Given the description of an element on the screen output the (x, y) to click on. 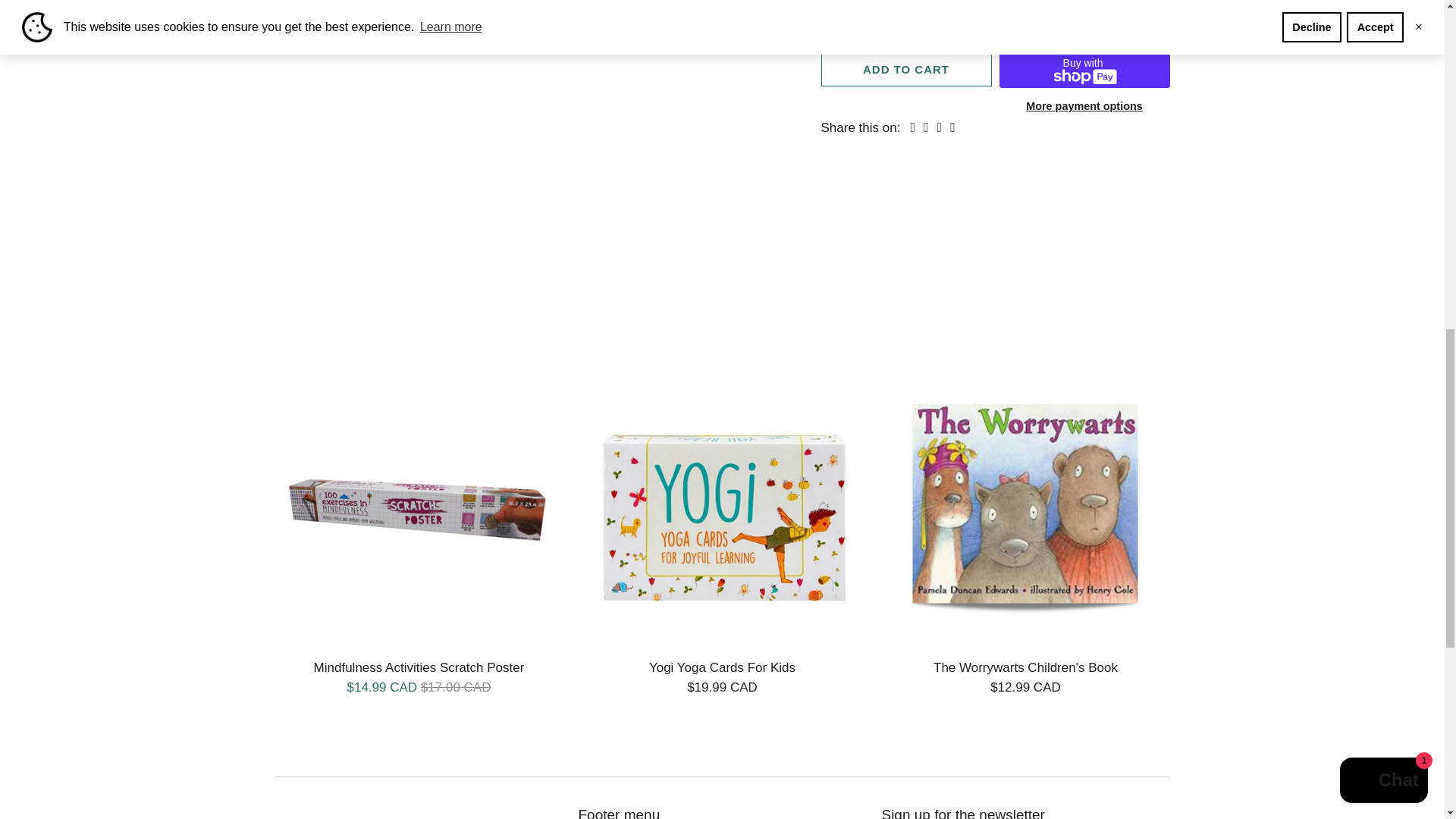
Share this on Facebook (926, 127)
1 (905, 20)
Email this to a friend (952, 127)
Share this on Twitter (912, 127)
Share this on Pinterest (939, 127)
